Given the description of an element on the screen output the (x, y) to click on. 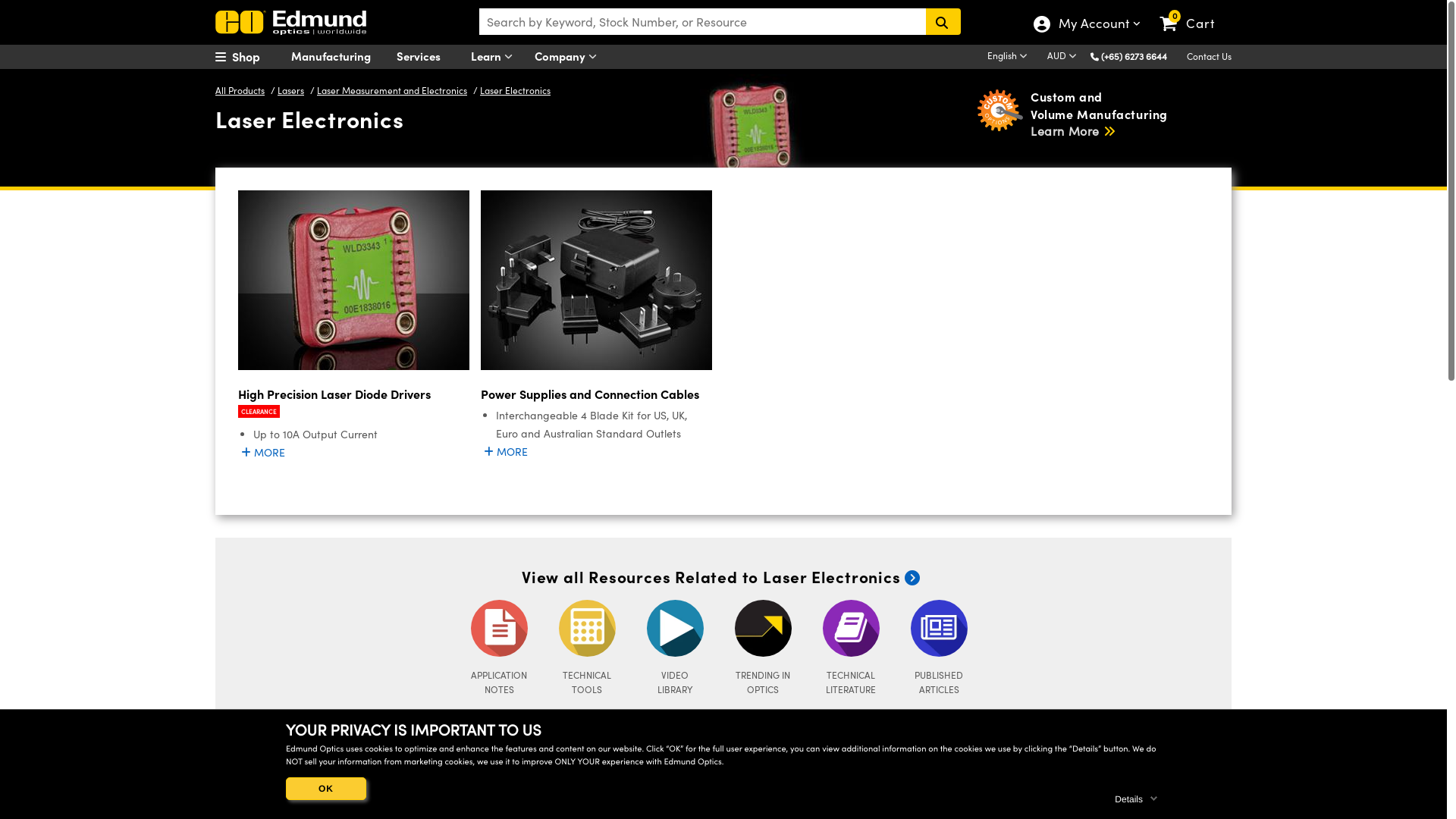
Lasers Element type: text (292, 85)
0 Cart Element type: text (1193, 10)
Services Element type: text (427, 54)
Laser Electronics Element type: text (517, 85)
TECHNICAL TOOLS Element type: text (586, 647)
(+65) 6273 6644 Element type: text (1134, 56)
APPLICATION NOTES Element type: text (498, 647)
PUBLISHED ARTICLES Element type: text (938, 647)
TECHNICAL LITERATURE Element type: text (850, 647)
TRENDING IN OPTICS Element type: text (762, 647)
VIDEO
LIBRARY Element type: text (674, 647)
OK Element type: text (325, 788)
Contact Us Element type: text (1208, 56)
Learn More Element type: text (1073, 130)
  Shop Element type: text (253, 56)
Power Supplies and Connection Cables Element type: text (596, 393)
CLEARANCE Element type: text (258, 410)
High Precision Laser Diode Drivers Element type: text (353, 393)
Manufacturing Element type: text (339, 54)
View all Resources Related to Laser Electronics   Element type: text (723, 575)
Company   Element type: text (568, 56)
Laser Measurement and Electronics Element type: text (393, 85)
  Element type: text (942, 21)
Learn   Element type: text (494, 56)
Details Element type: text (1137, 796)
All Products Element type: text (241, 85)
My Account Element type: text (1080, 30)
